Given the description of an element on the screen output the (x, y) to click on. 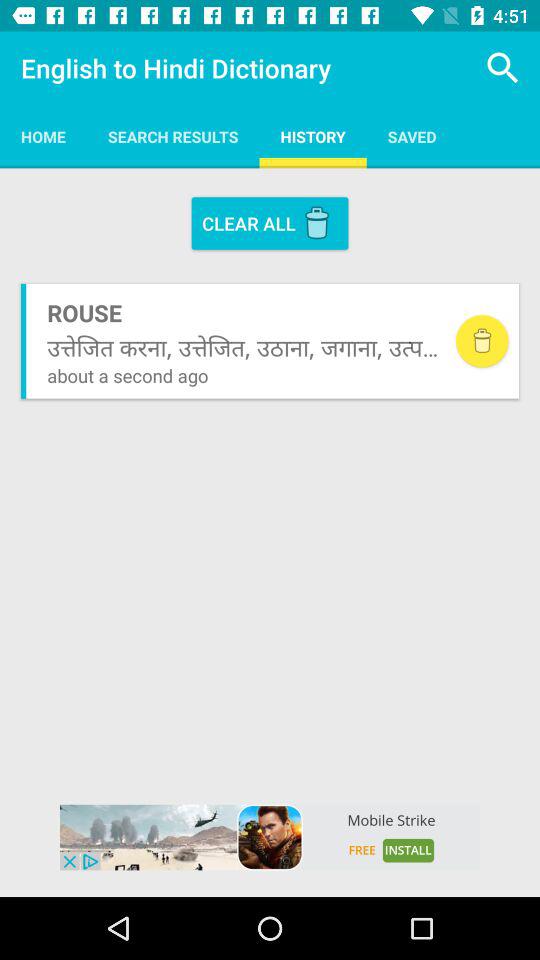
go to advertisement (270, 837)
